Given the description of an element on the screen output the (x, y) to click on. 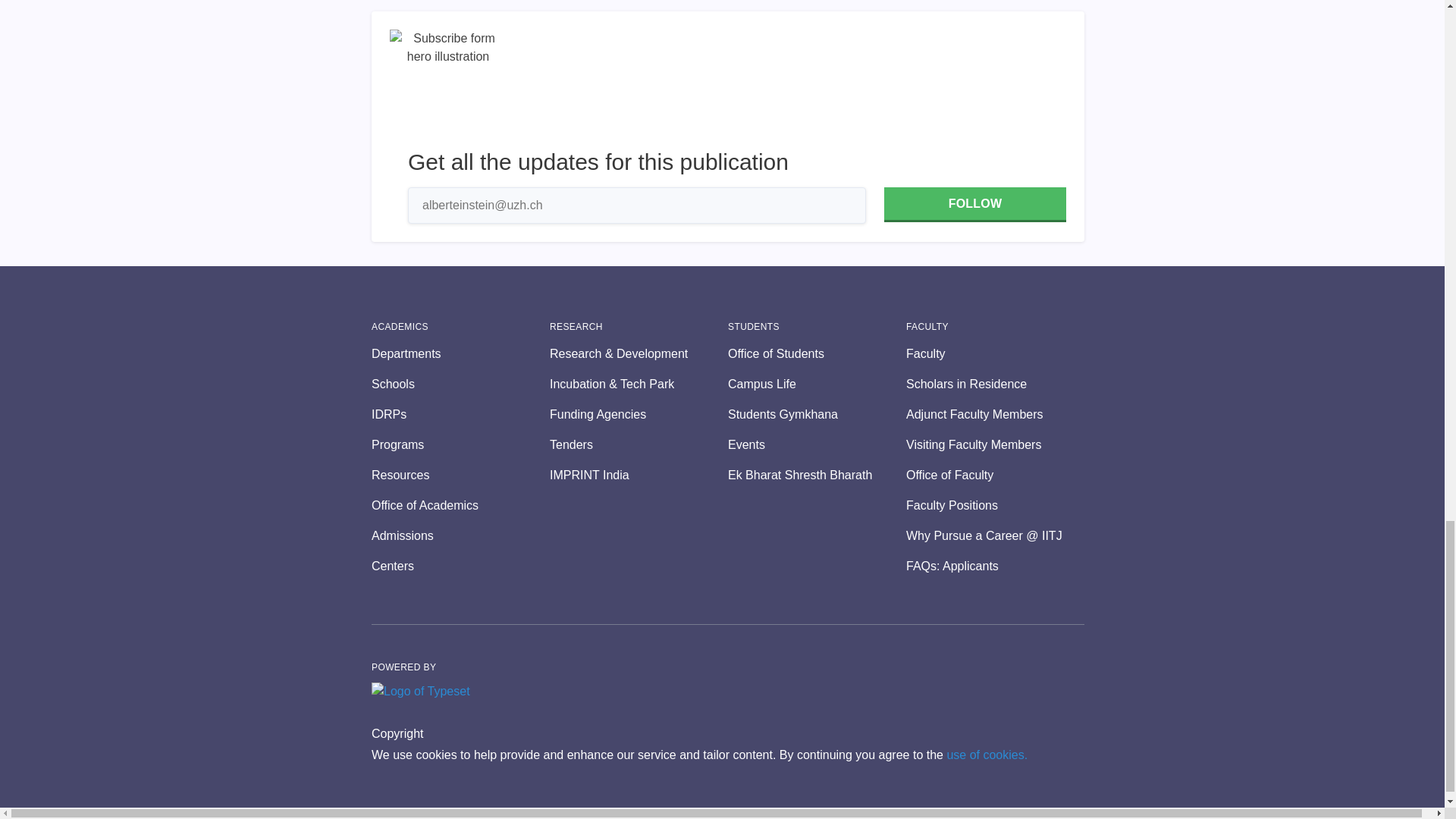
Subscribe form hero illustration (448, 87)
IDRPs (460, 414)
Resources (460, 475)
Logo of Typeset (420, 691)
Departments (460, 353)
IMPRINT India (639, 475)
Students Gymkhana (816, 414)
Funding Agencies (639, 414)
Admissions (460, 536)
Faculty (994, 353)
